Given the description of an element on the screen output the (x, y) to click on. 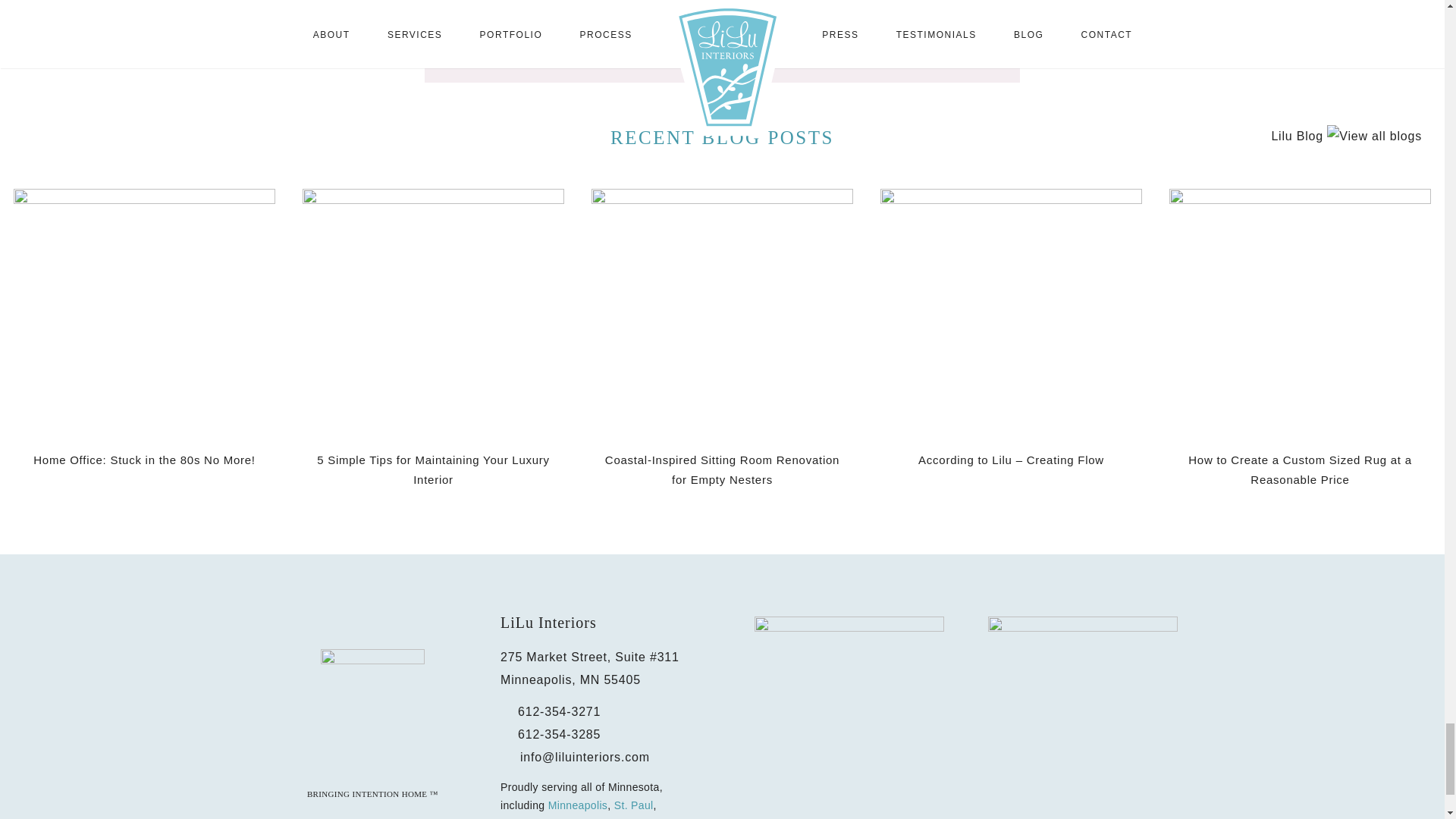
post comment (722, 25)
